Given the description of an element on the screen output the (x, y) to click on. 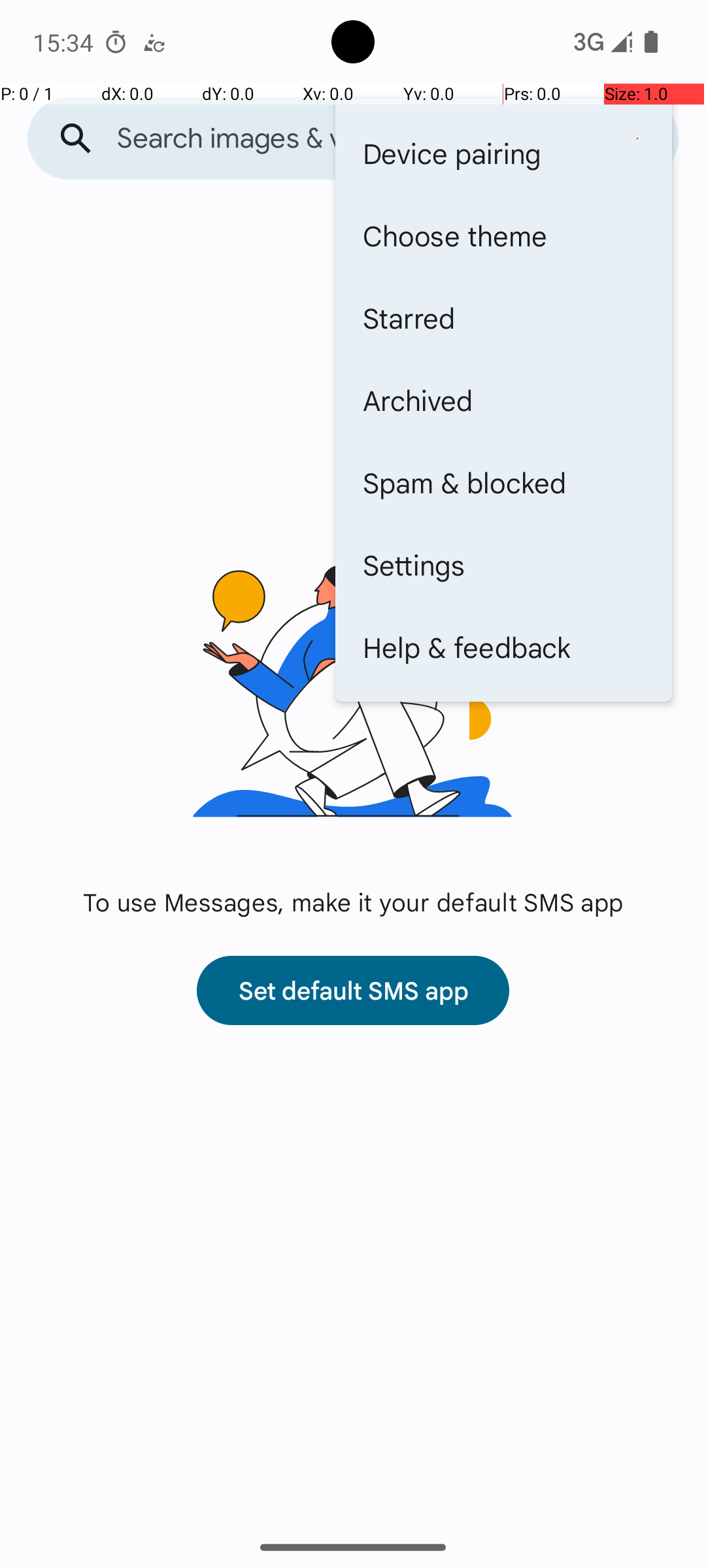
Device pairing Element type: android.widget.TextView (503, 152)
Choose theme Element type: android.widget.TextView (503, 234)
Starred Element type: android.widget.TextView (503, 317)
Archived Element type: android.widget.TextView (503, 399)
Spam & blocked Element type: android.widget.TextView (503, 481)
